Given the description of an element on the screen output the (x, y) to click on. 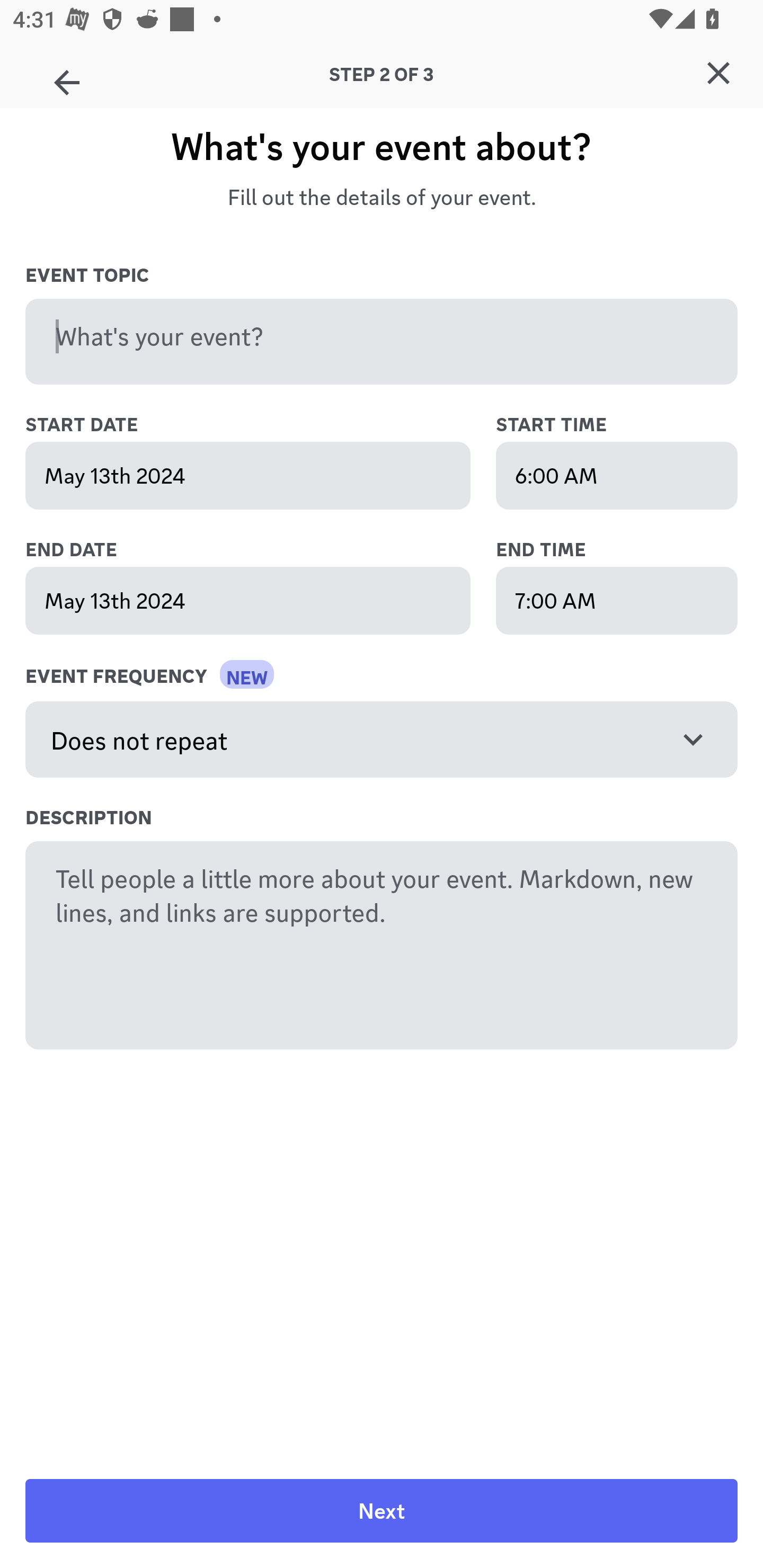
Close (718, 72)
Search (373, 165)
What's your event? Event Topic (381, 341)
START DATE (266, 425)
START TIME (616, 425)
Start Date, May 13th 2024 May 13th 2024 (247, 475)
Start Time, 6:00 AM 6:00 AM (616, 475)
END DATE (266, 550)
END TIME (616, 550)
End Date, May 13th 2024 May 13th 2024 (247, 600)
End Time, 7:00 AM 7:00 AM (616, 600)
Event Frequency Does not repeat (381, 738)
Next (381, 1510)
